Given the description of an element on the screen output the (x, y) to click on. 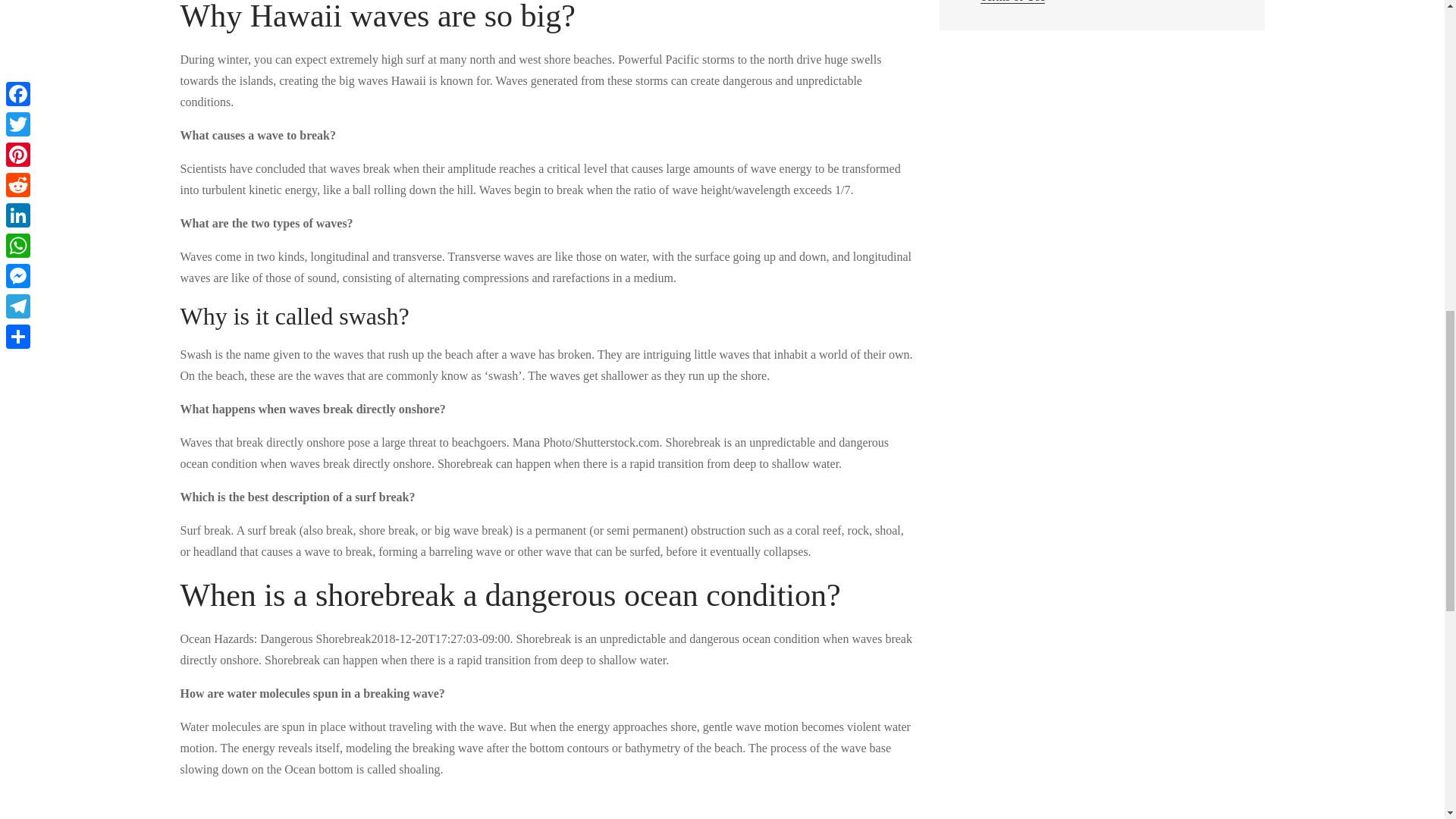
Terms of Use (1012, 2)
